Given the description of an element on the screen output the (x, y) to click on. 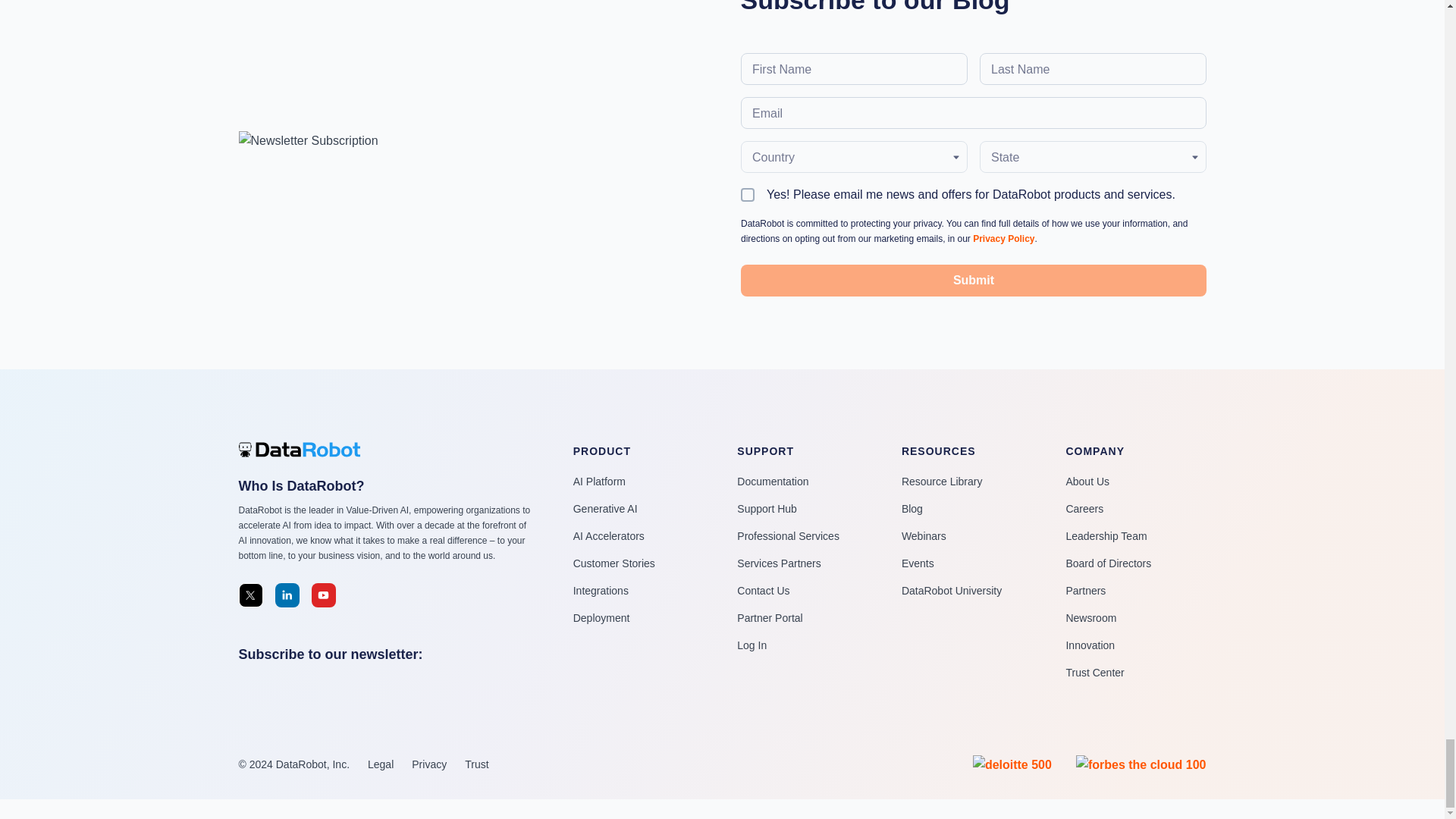
Submit (972, 280)
